Given the description of an element on the screen output the (x, y) to click on. 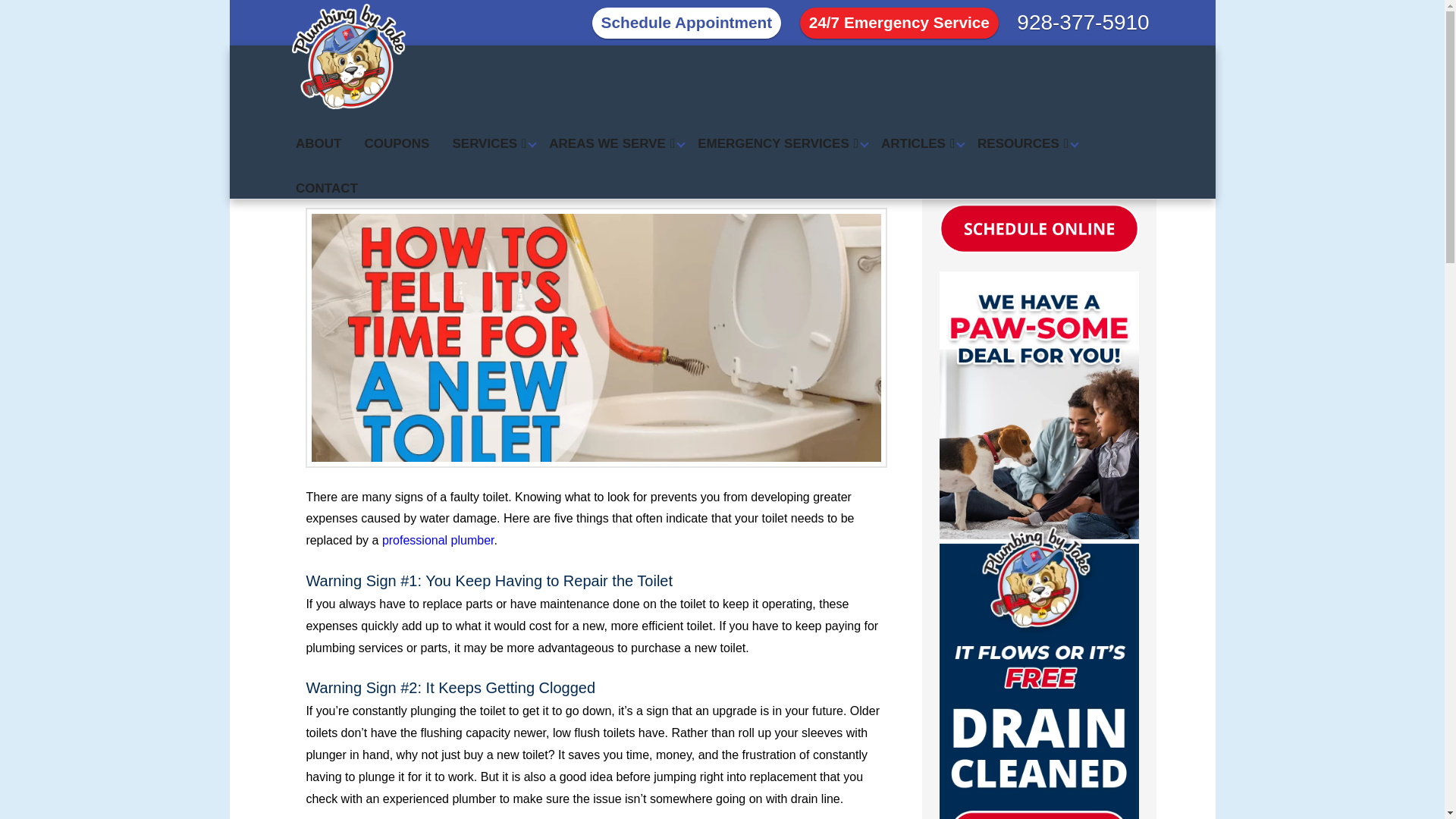
AREAS WE SERVE (611, 130)
928-377-5910 (1082, 22)
CONTACT (326, 176)
Schedule Appointment (686, 22)
RESOURCES (1023, 130)
SERVICES (489, 130)
EMERGENCY SERVICES (777, 130)
ARTICLES (917, 130)
COUPONS (397, 130)
ABOUT (317, 130)
